Given the description of an element on the screen output the (x, y) to click on. 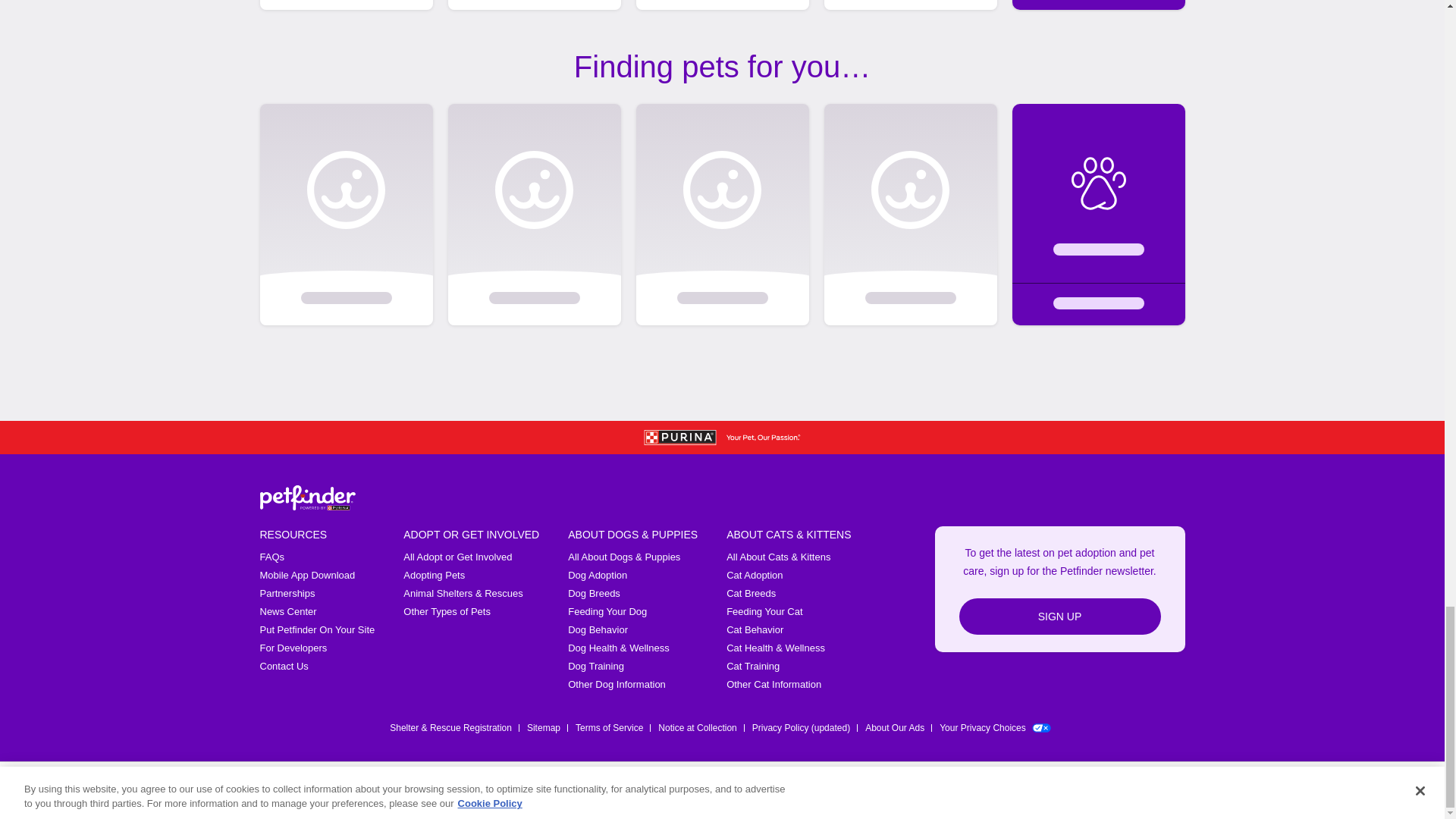
Facebook (1018, 791)
Twitter (1057, 791)
Petfinder Logo (307, 497)
Instagram (1097, 791)
YouTube (1136, 791)
